Given the description of an element on the screen output the (x, y) to click on. 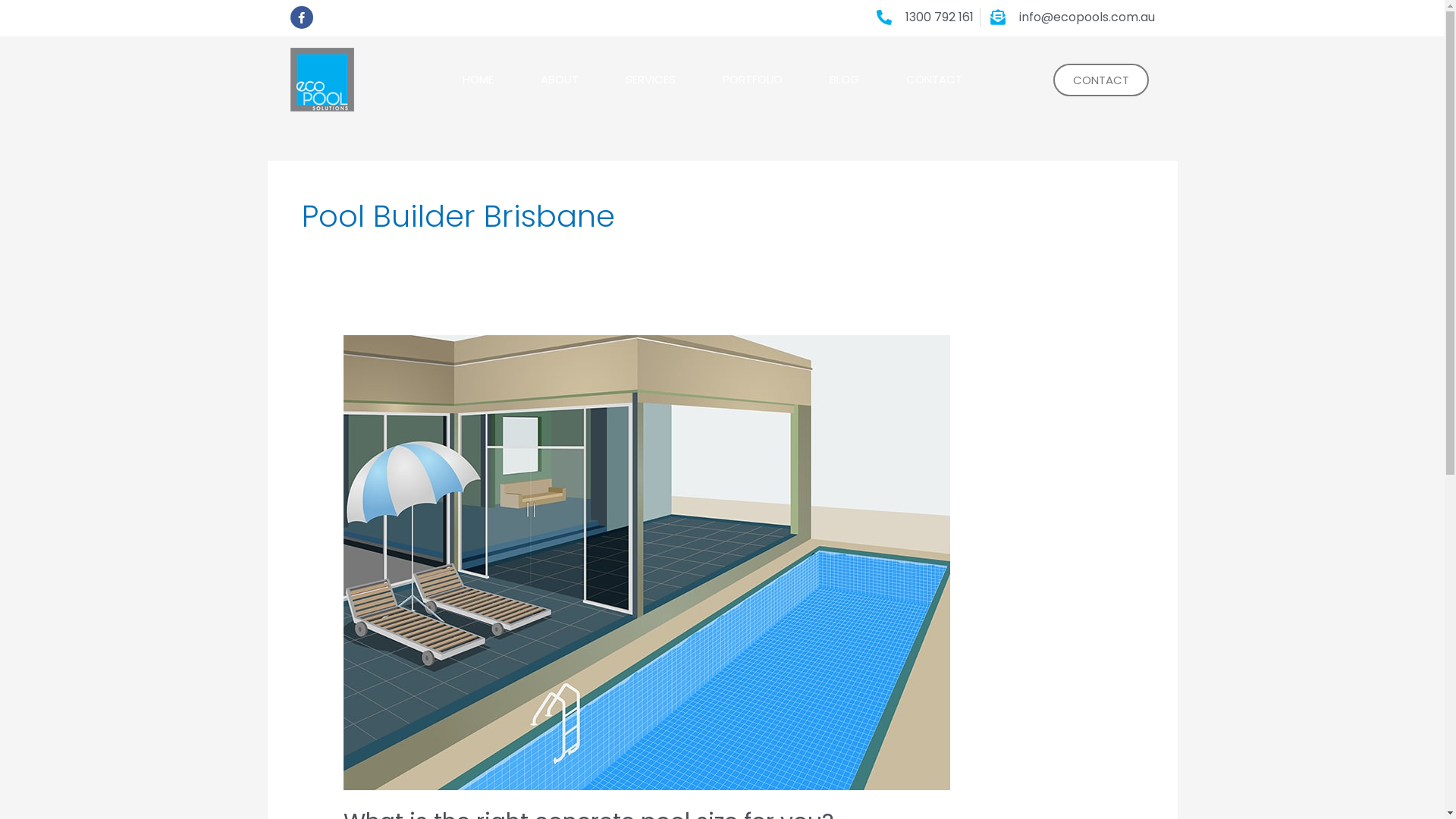
CONTACT Element type: text (933, 79)
HOME Element type: text (478, 79)
CONTACT Element type: text (1100, 79)
ABOUT Element type: text (559, 79)
SERVICES Element type: text (650, 79)
BLOG Element type: text (844, 79)
Facebook-f Element type: text (300, 17)
info@ecopools.com.au Element type: text (1069, 17)
PORTFOLIO Element type: text (752, 79)
1300 792 161 Element type: text (922, 17)
